Given the description of an element on the screen output the (x, y) to click on. 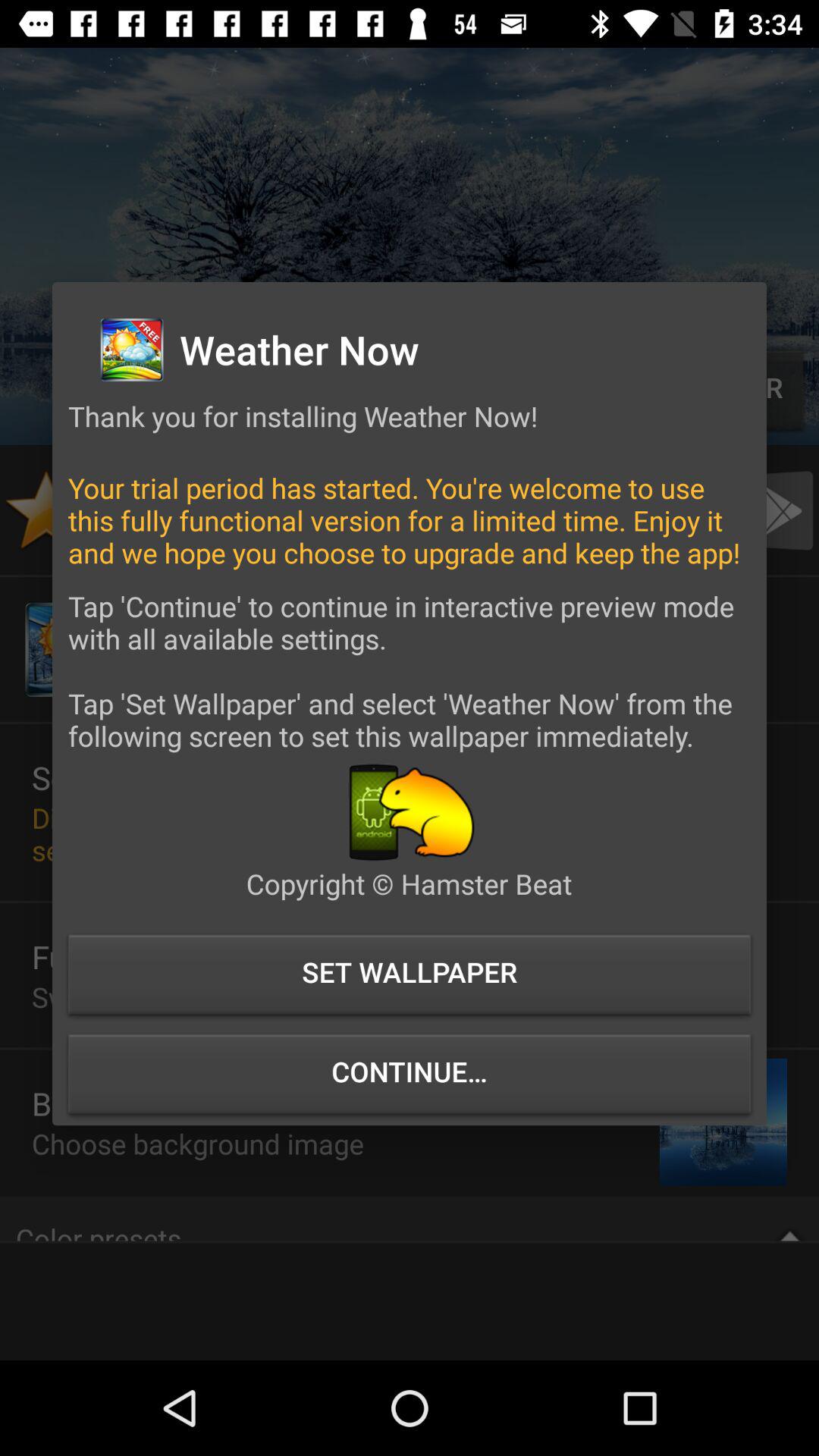
shows bear icon (409, 811)
